Given the description of an element on the screen output the (x, y) to click on. 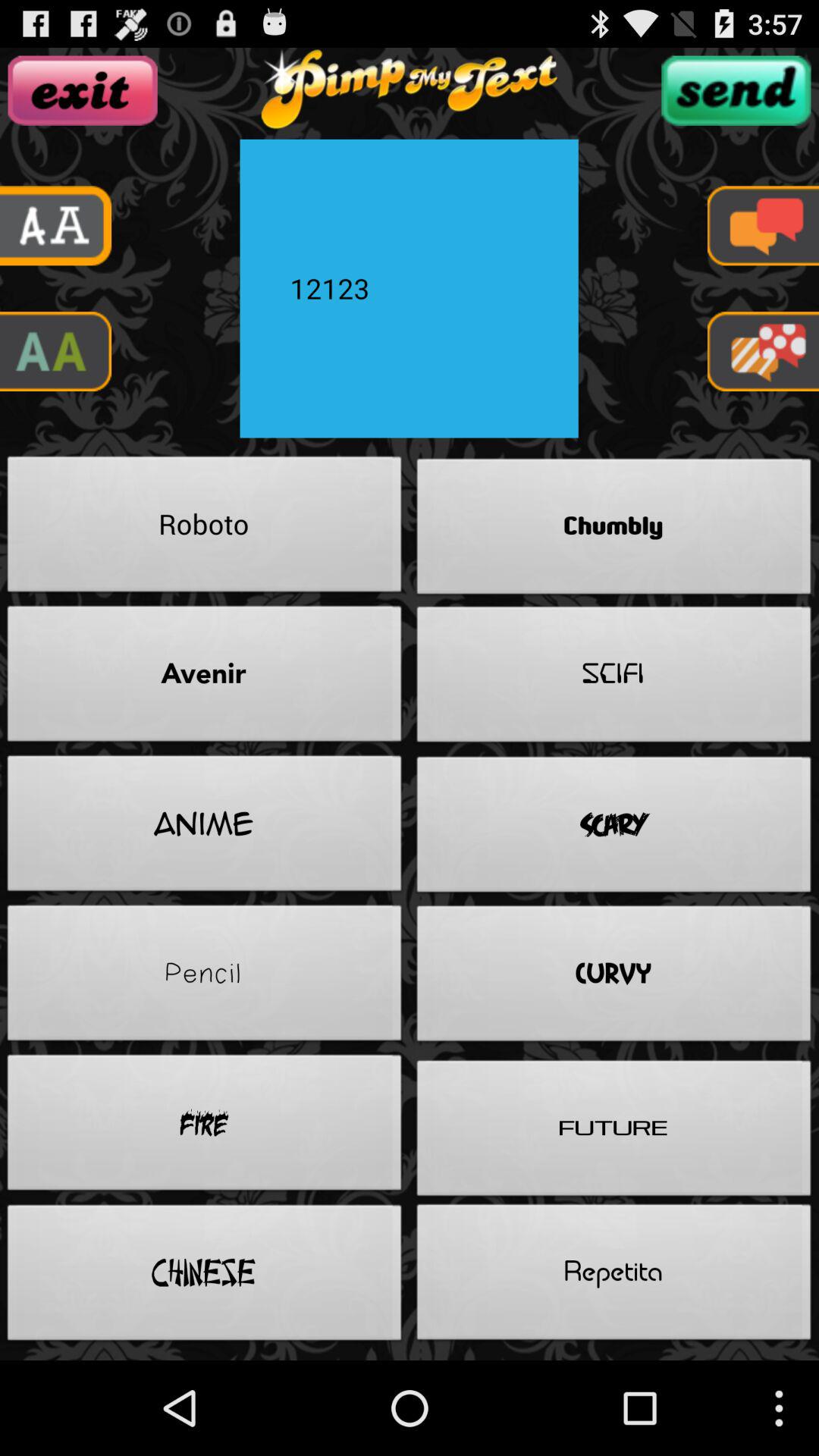
massage (763, 225)
